Given the description of an element on the screen output the (x, y) to click on. 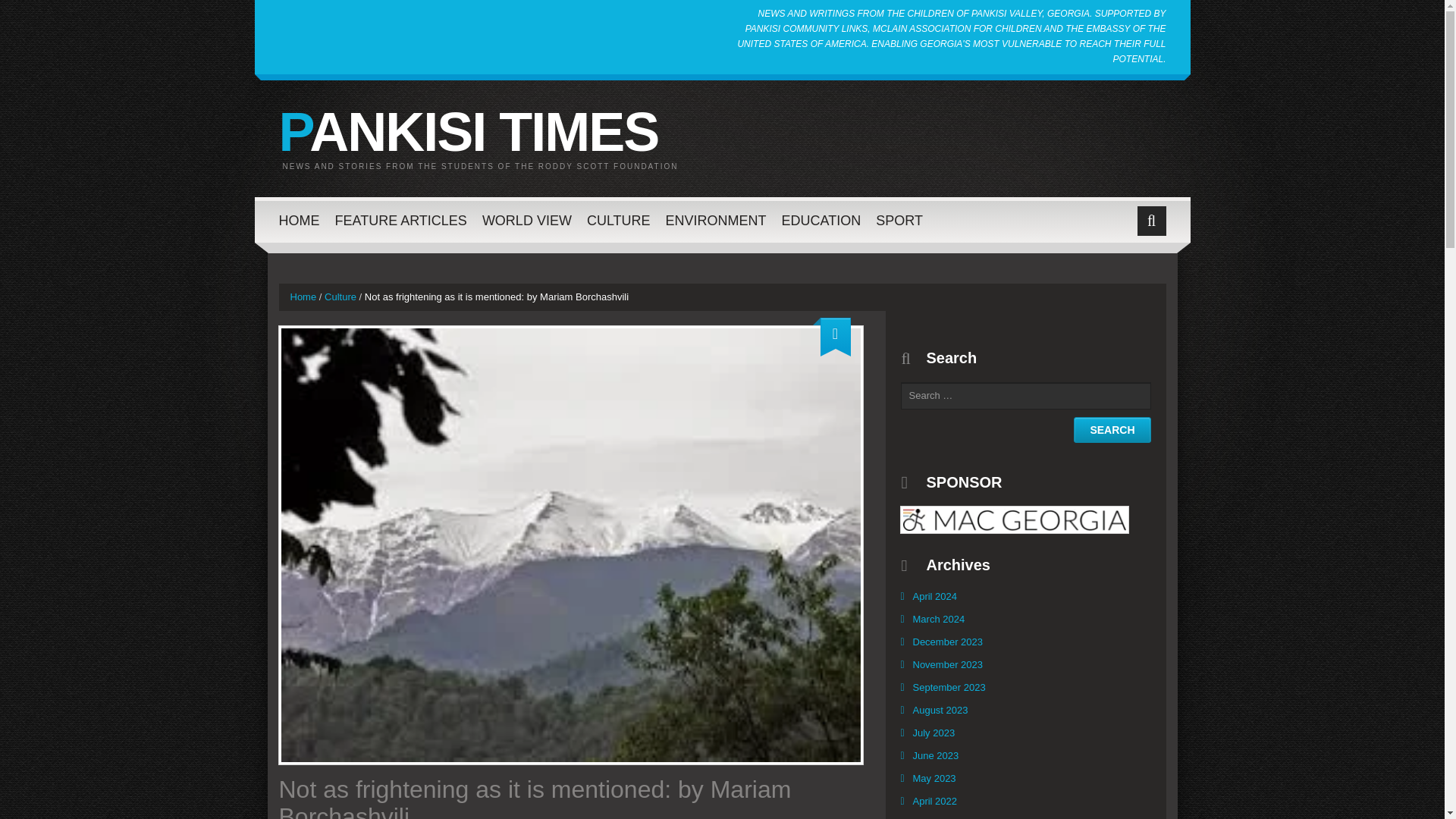
WORLD VIEW (526, 219)
HOME (299, 219)
April 2022 (934, 801)
August 2023 (939, 710)
EDUCATION (821, 219)
Search (1112, 429)
Search (1112, 429)
Pankisi Times (469, 131)
December 2023 (947, 642)
FEATURE ARTICLES (400, 219)
March 2024 (938, 619)
May 2023 (933, 778)
April 2024 (934, 596)
July 2023 (933, 733)
November 2023 (947, 664)
